Given the description of an element on the screen output the (x, y) to click on. 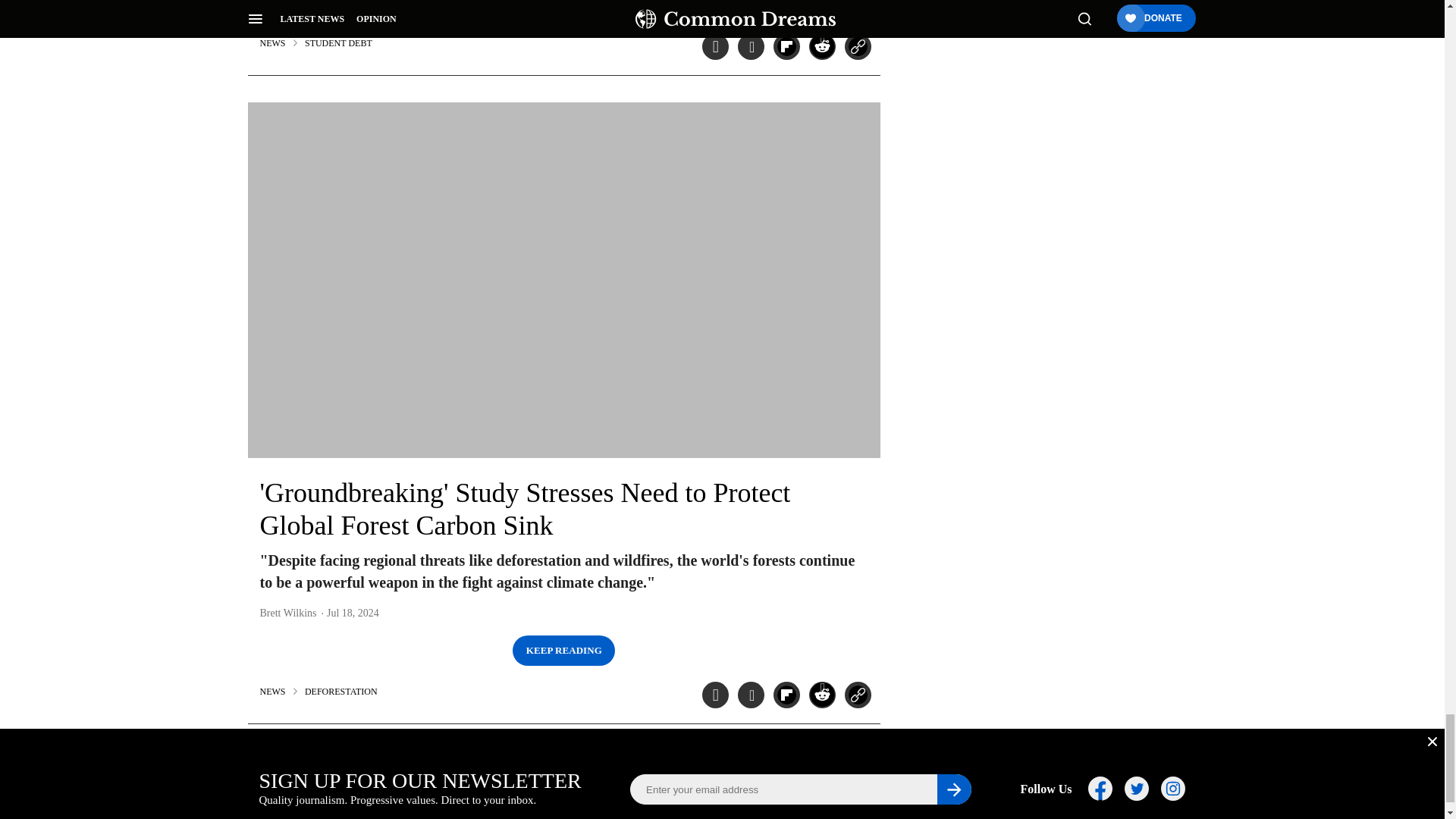
Copy this link to clipboard (857, 694)
Copy this link to clipboard (857, 46)
